Given the description of an element on the screen output the (x, y) to click on. 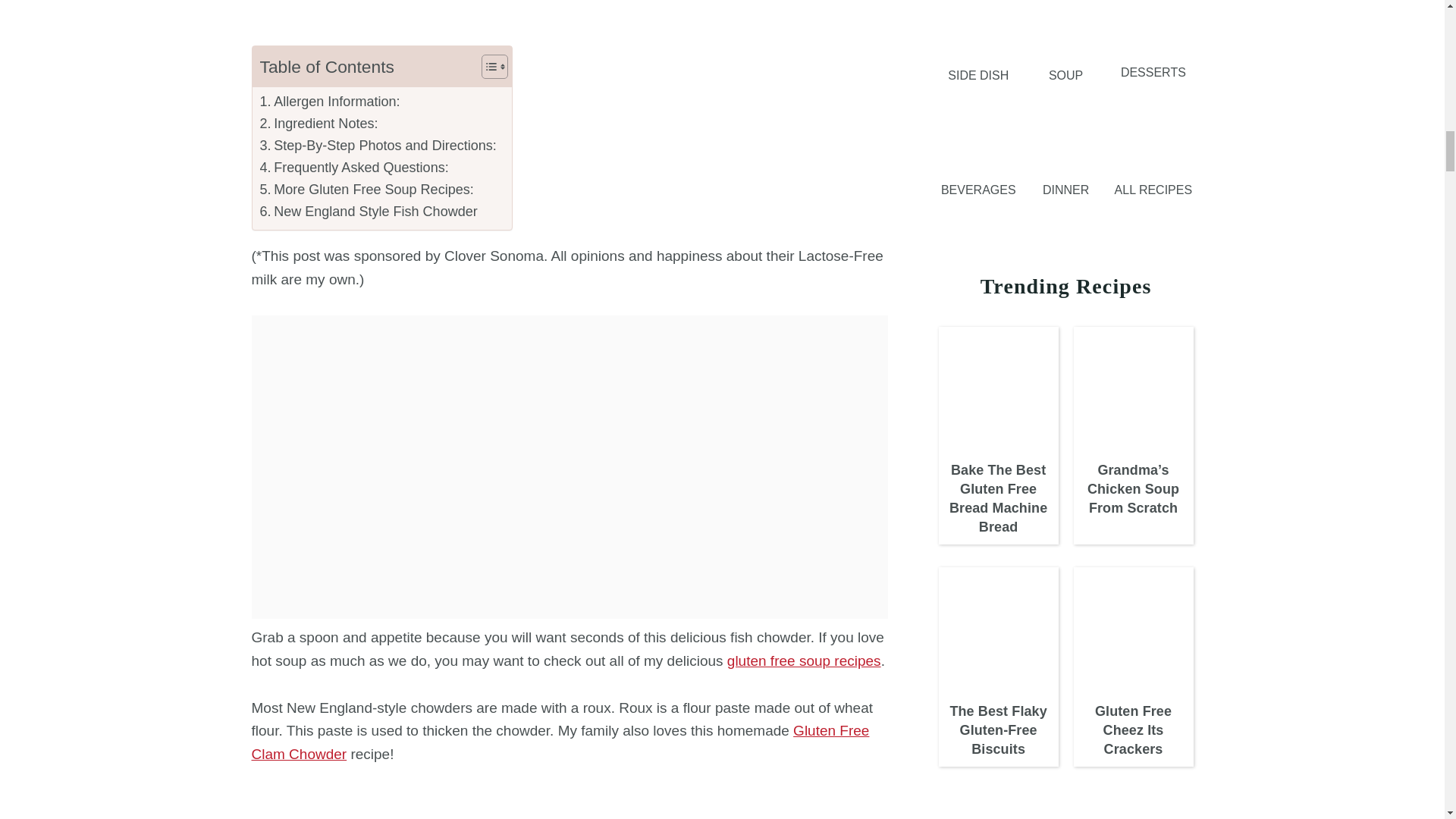
Gluten Free Clam Chowder (560, 741)
Allergen Information: (328, 101)
New England Style Fish Chowder (368, 211)
Step-By-Step Photos and Directions: (377, 146)
Ingredient Notes: (318, 124)
More Gluten Free Soup Recipes: (366, 189)
Step-By-Step Photos and Directions: (377, 146)
gluten free soup recipes (803, 660)
Frequently Asked Questions: (353, 168)
Ingredient Notes: (318, 124)
